Given the description of an element on the screen output the (x, y) to click on. 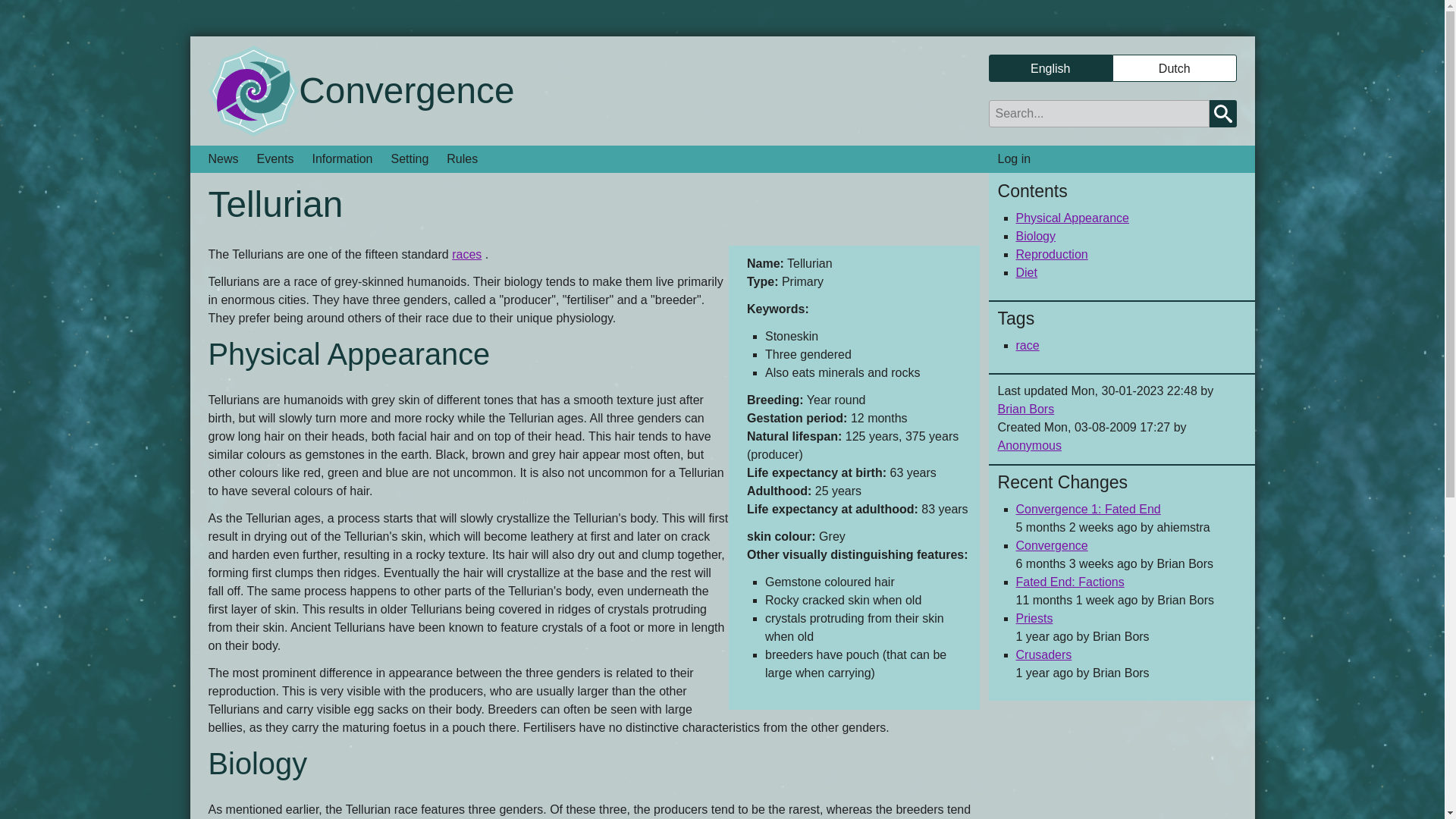
Physical Appearance (1072, 217)
Reproduction (1051, 254)
Information (341, 158)
Brian Bors (1025, 408)
Convergence 1: Fated End (1088, 508)
Convergence (1051, 545)
Events (274, 158)
Fated End: Factions (1070, 581)
Log in (1014, 158)
Crusaders (1043, 654)
races (466, 254)
Search (1222, 113)
Search (1222, 113)
Dutch (1174, 68)
General information about Heimr (341, 158)
